Given the description of an element on the screen output the (x, y) to click on. 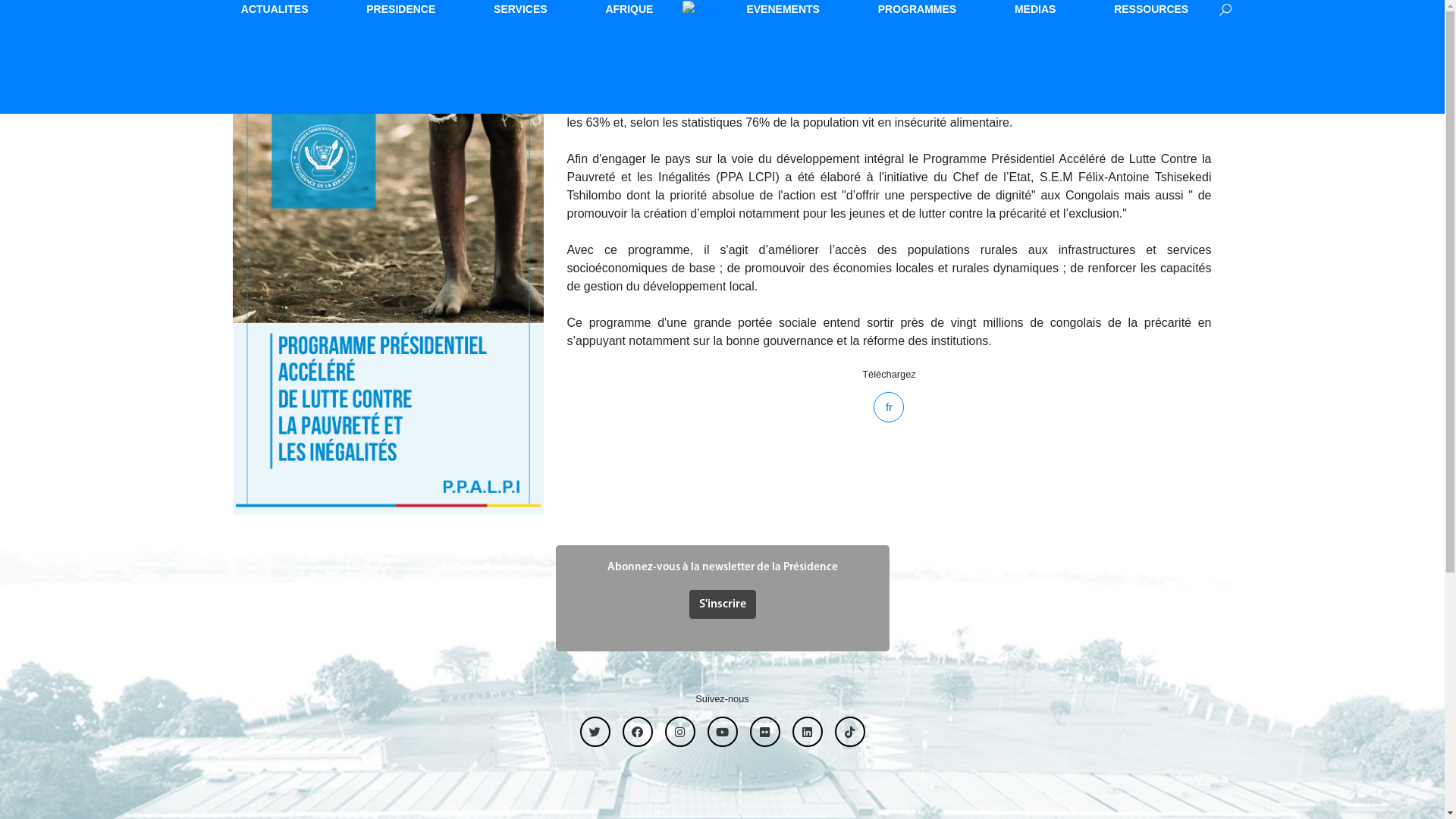
MEDIAS Element type: text (1034, 9)
RESSOURCES Element type: text (1150, 9)
SERVICES Element type: text (520, 9)
S'inscrire Element type: text (721, 603)
PRESIDENCE Element type: text (400, 9)
ACTUALITES Element type: text (274, 9)
PROGRAMMES Element type: text (917, 9)
fr Element type: text (888, 407)
EVENEMENTS Element type: text (782, 9)
AFRIQUE Element type: text (628, 9)
